Given the description of an element on the screen output the (x, y) to click on. 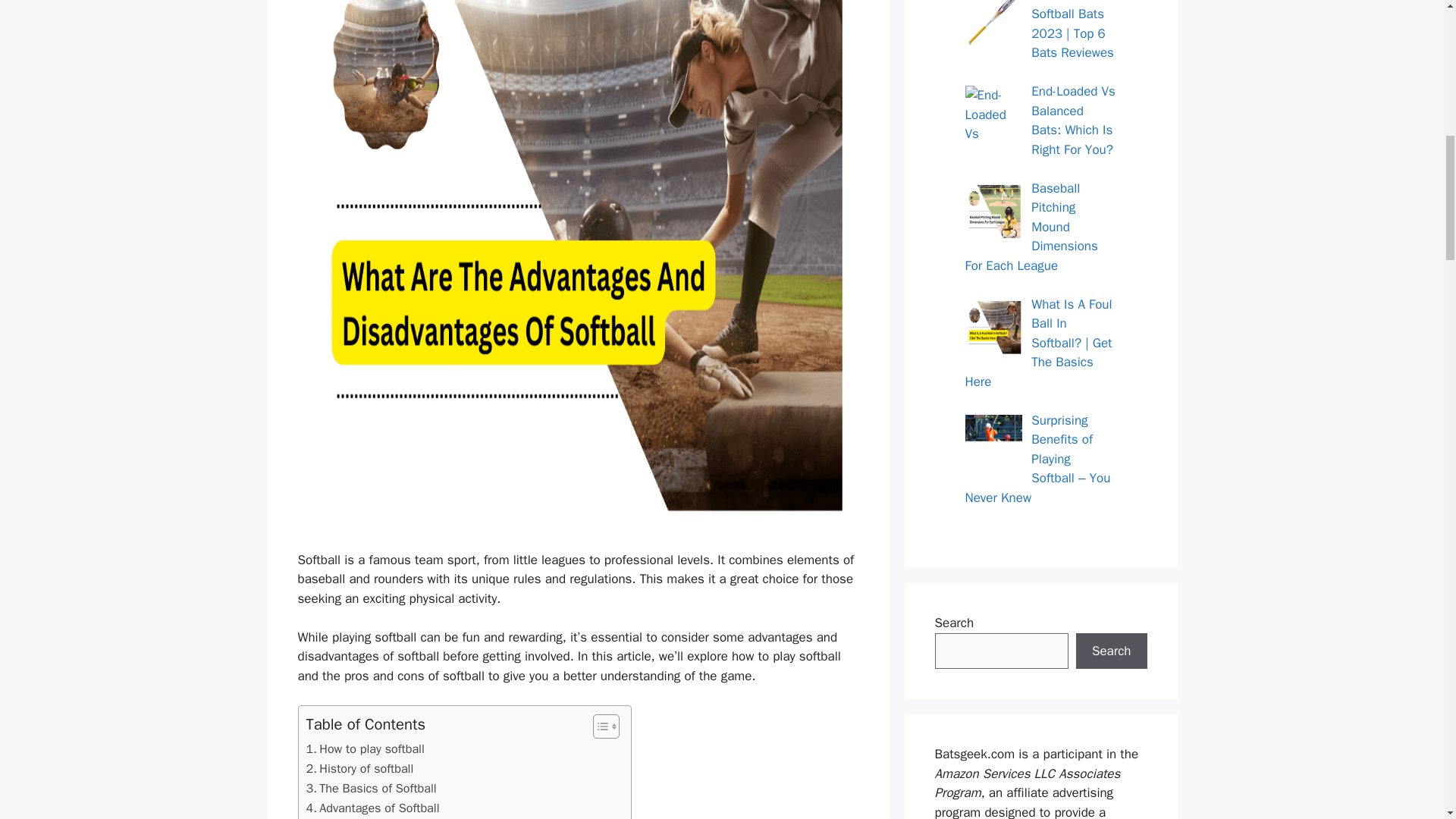
How to play softball  (366, 749)
The Basics of Softball (370, 788)
Advantages of Softball (372, 807)
The Basics of Softball (370, 788)
Advantages of Softball (372, 807)
History of softball  (361, 768)
